Given the description of an element on the screen output the (x, y) to click on. 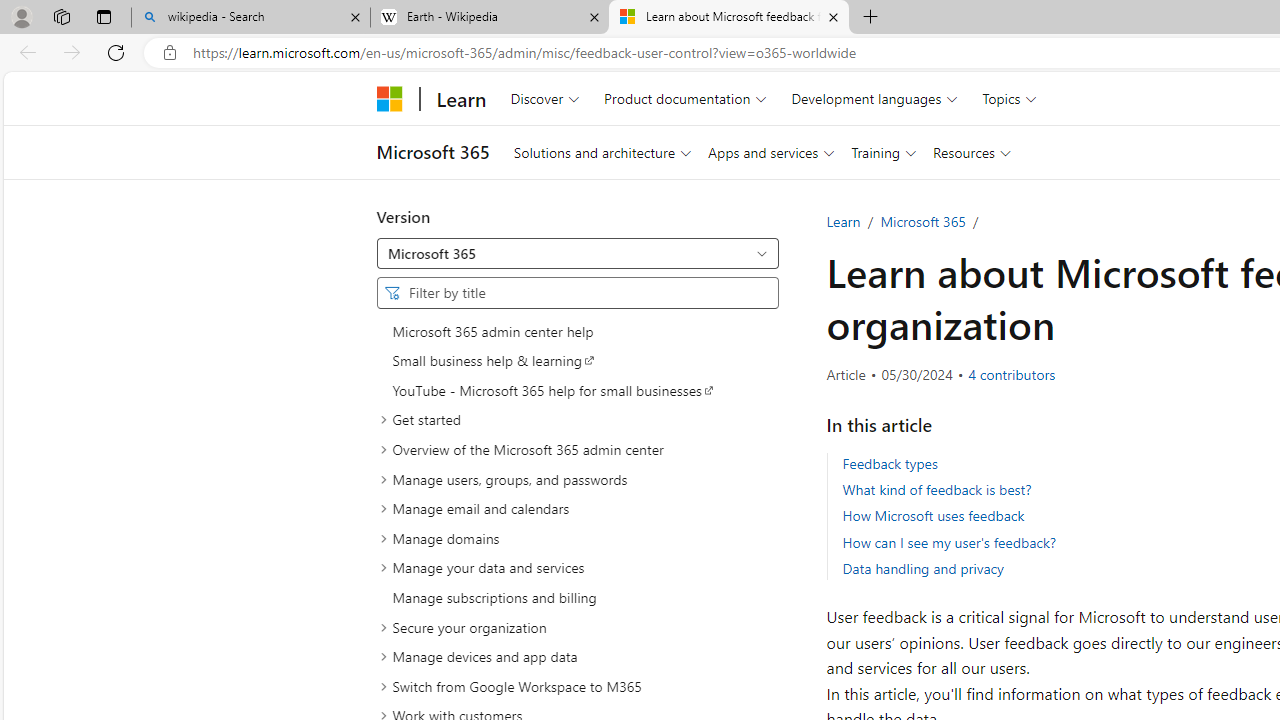
4 contributors (1011, 375)
Solutions and architecture (602, 152)
Close tab (833, 16)
View site information (169, 53)
Topics (1009, 98)
Development languages (874, 98)
Forward (72, 52)
Microsoft 365 (923, 221)
Refresh (115, 52)
How Microsoft uses feedback (933, 516)
Apps and services (770, 152)
Training (884, 152)
Learn (843, 221)
New Tab (870, 17)
